Given the description of an element on the screen output the (x, y) to click on. 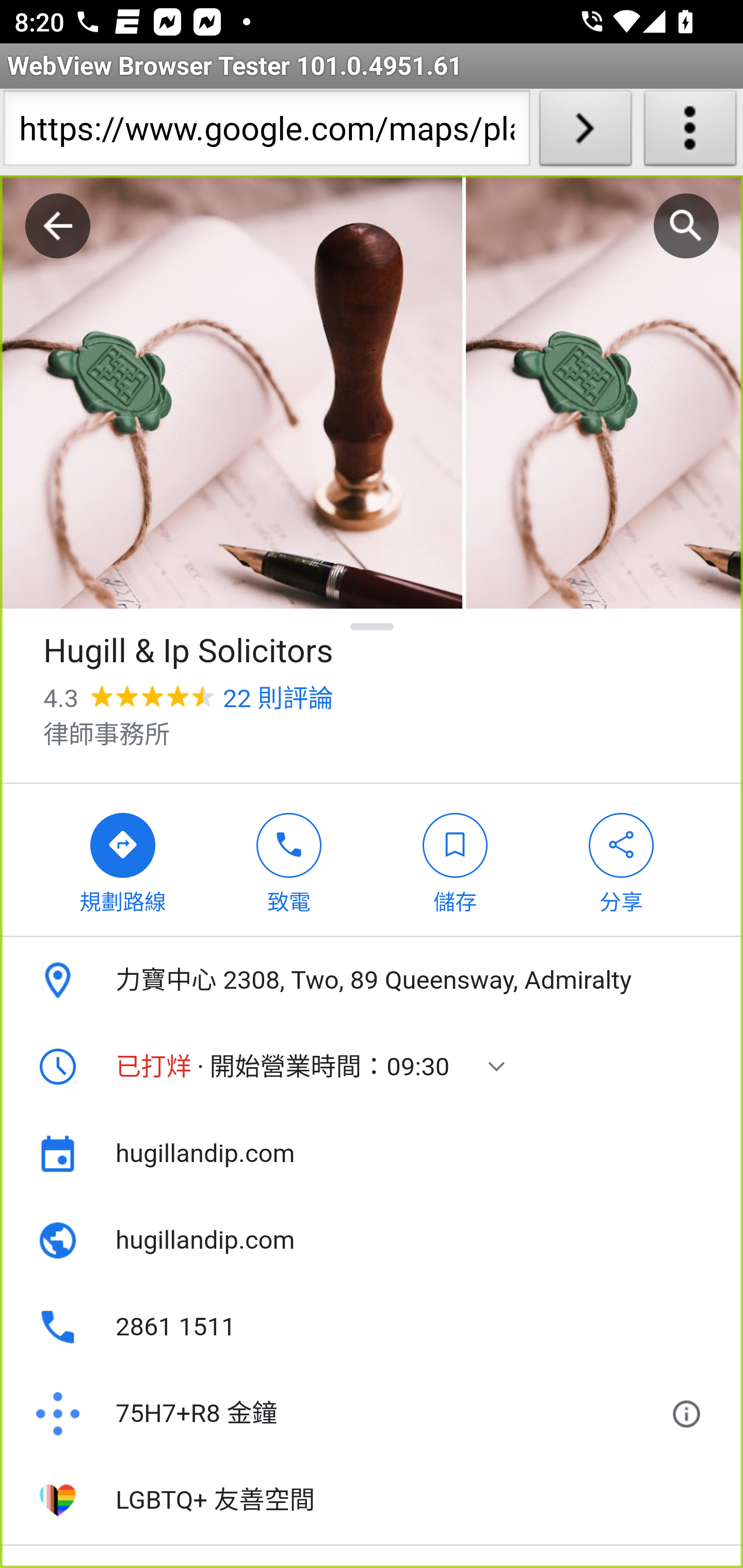
Load URL (585, 132)
About WebView (690, 132)
第 1 張相片 (共 10 張) (231, 392)
第 2 張相片 (共 10 張) (604, 392)
返回 (58, 226)
搜尋 (686, 226)
隱藏詳細資訊 (372, 626)
4.3 星級 22 則評論 (188, 698)
前往Hugill & Ip Solicitors的路線 (123, 858)
致電「Hugill & Ip Solicitors」  致電 (289, 858)
將「Hugill & Ip Solicitors」儲存至清單中 (454, 858)
分享「Hugill & Ip Solicitors」 (621, 858)
地址: 力寶中心 2308, Two, 89 Queensway, Admiralty  (371, 981)
營業時間 已打烊 ⋅ 開始營業時間：09:30 顯示本週營業時間 (371, 1066)
hugillandip.com (371, 1153)
網站: hugillandip.com  hugillandip.com (371, 1240)
電話號碼: 2861 1511  2861 1511 (371, 1327)
Plus Code: 75H7+R8 金鐘 (345, 1414)
進一步瞭解 Plus Codes (690, 1414)
